Given the description of an element on the screen output the (x, y) to click on. 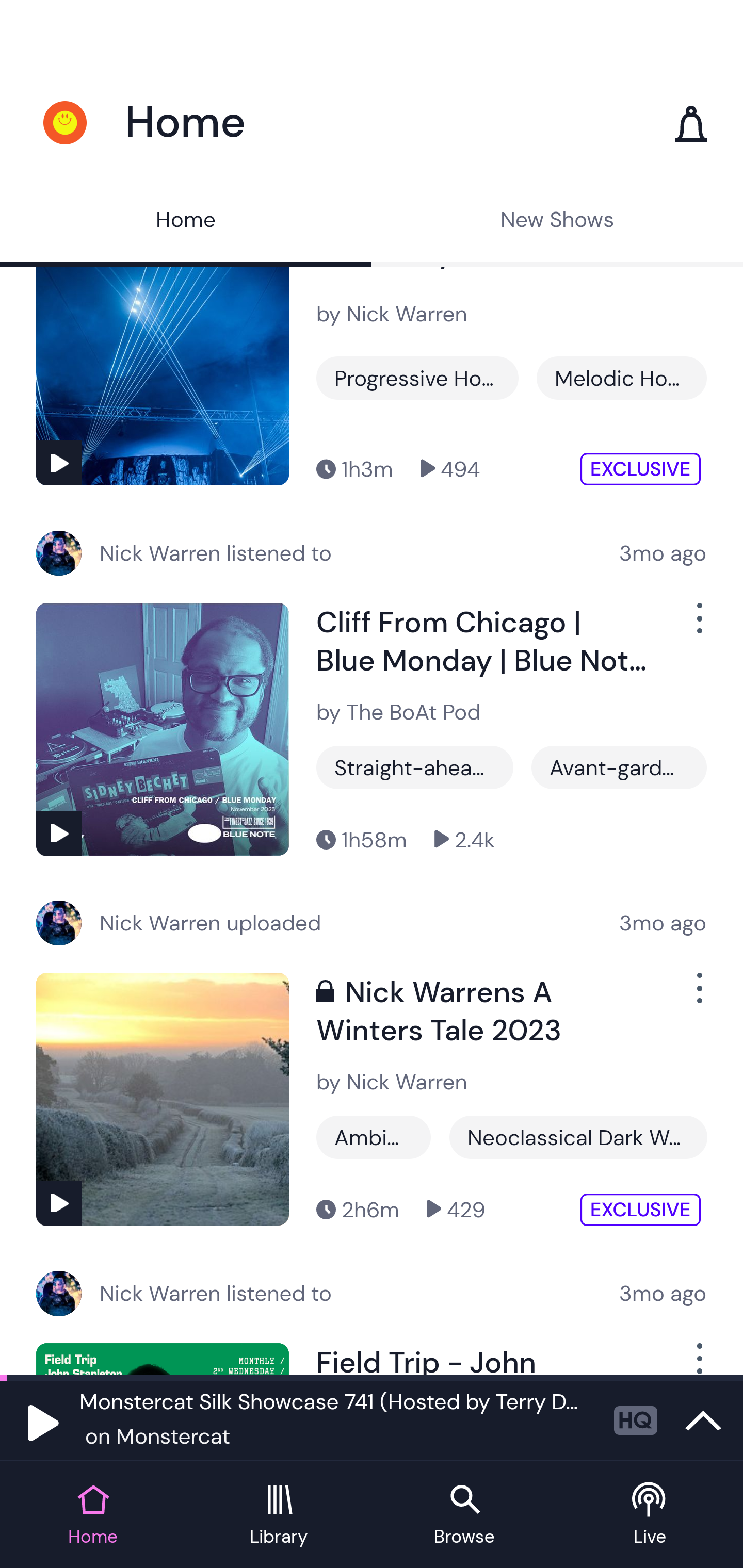
Home (185, 221)
New Shows (557, 221)
Progressive House (417, 377)
Melodic House (621, 377)
Show Options Menu Button (697, 626)
Straight-ahead Jazz (414, 767)
Avant-garde Jazz (618, 767)
Show Options Menu Button (697, 995)
Ambient (373, 1137)
Neoclassical Dark Wave (577, 1137)
Show Options Menu Button (697, 1359)
Home tab Home (92, 1515)
Library tab Library (278, 1515)
Browse tab Browse (464, 1515)
Live tab Live (650, 1515)
